Given the description of an element on the screen output the (x, y) to click on. 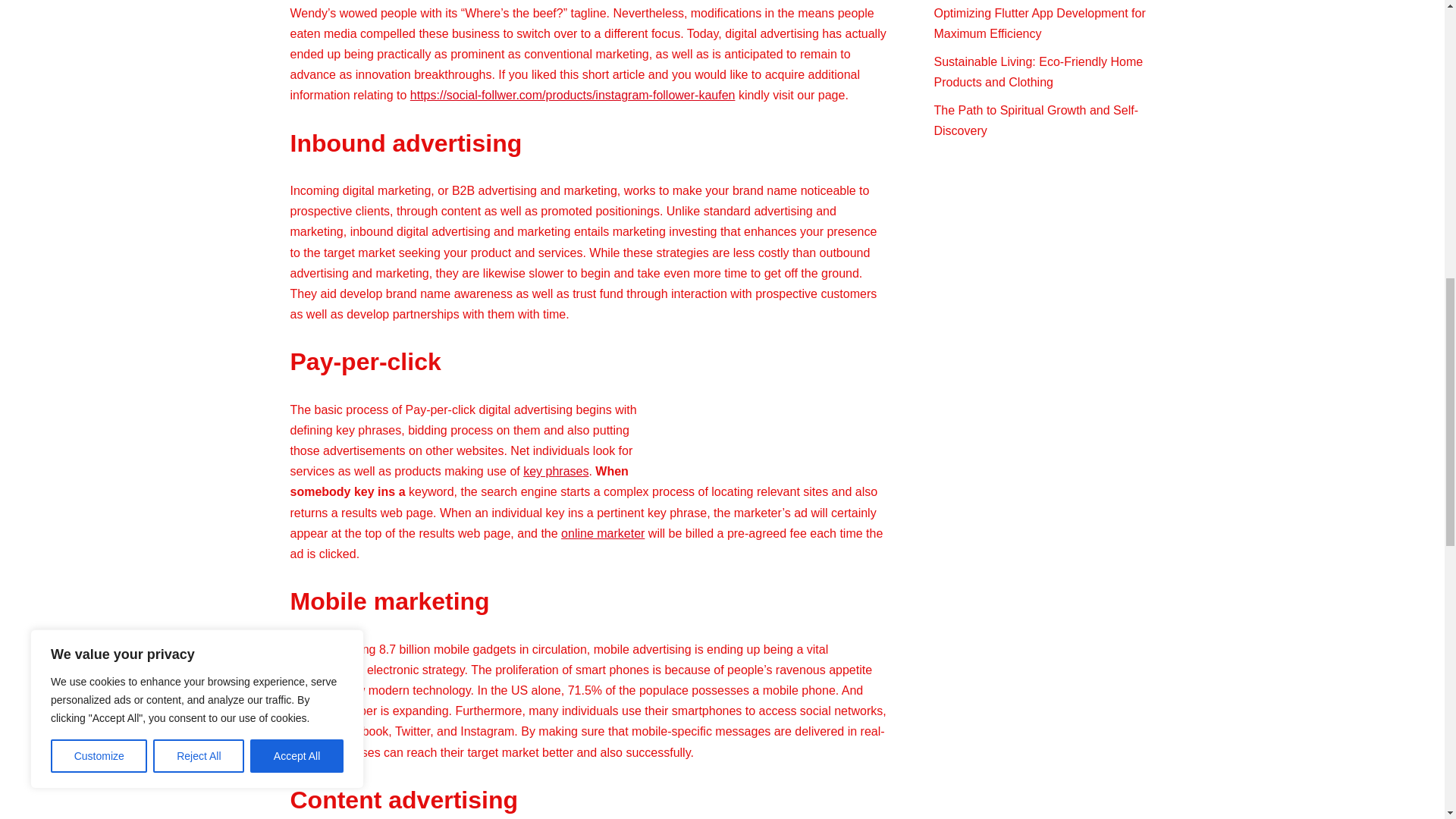
key phrases (555, 471)
online marketer (602, 533)
